Given the description of an element on the screen output the (x, y) to click on. 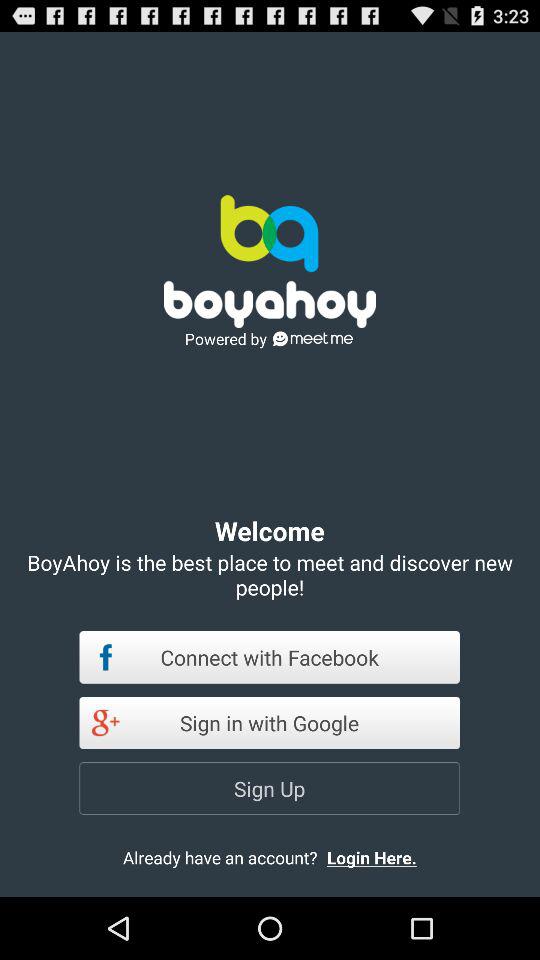
tap the login here. item (388, 857)
